Given the description of an element on the screen output the (x, y) to click on. 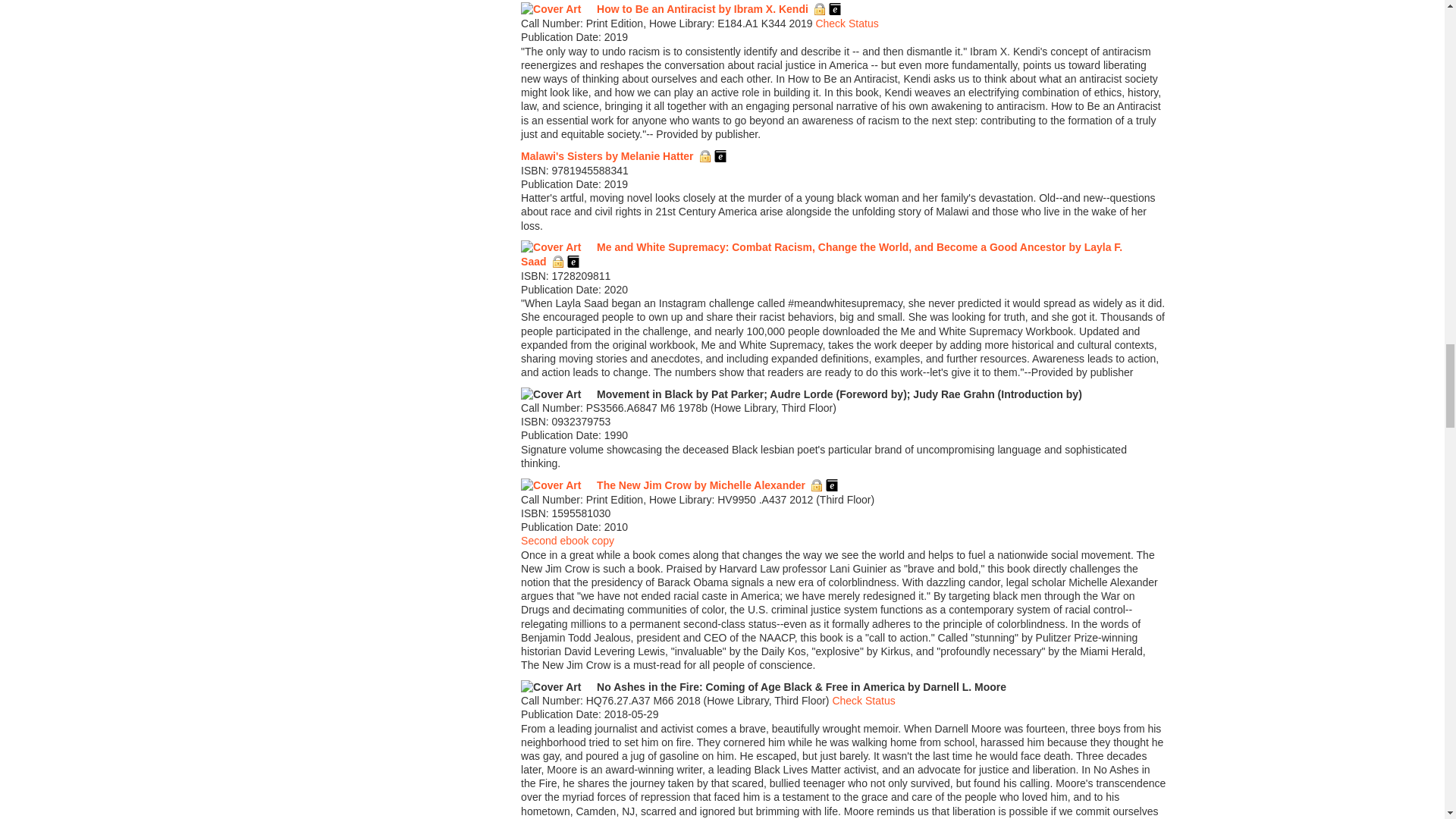
Malawi's Sisters by Melanie Hatter (607, 155)
Check Status (846, 23)
Second ebook copy (567, 540)
Check Status (863, 700)
The New Jim Crow by Michelle Alexander (700, 485)
How to Be an Antiracist by Ibram X. Kendi (702, 9)
